Given the description of an element on the screen output the (x, y) to click on. 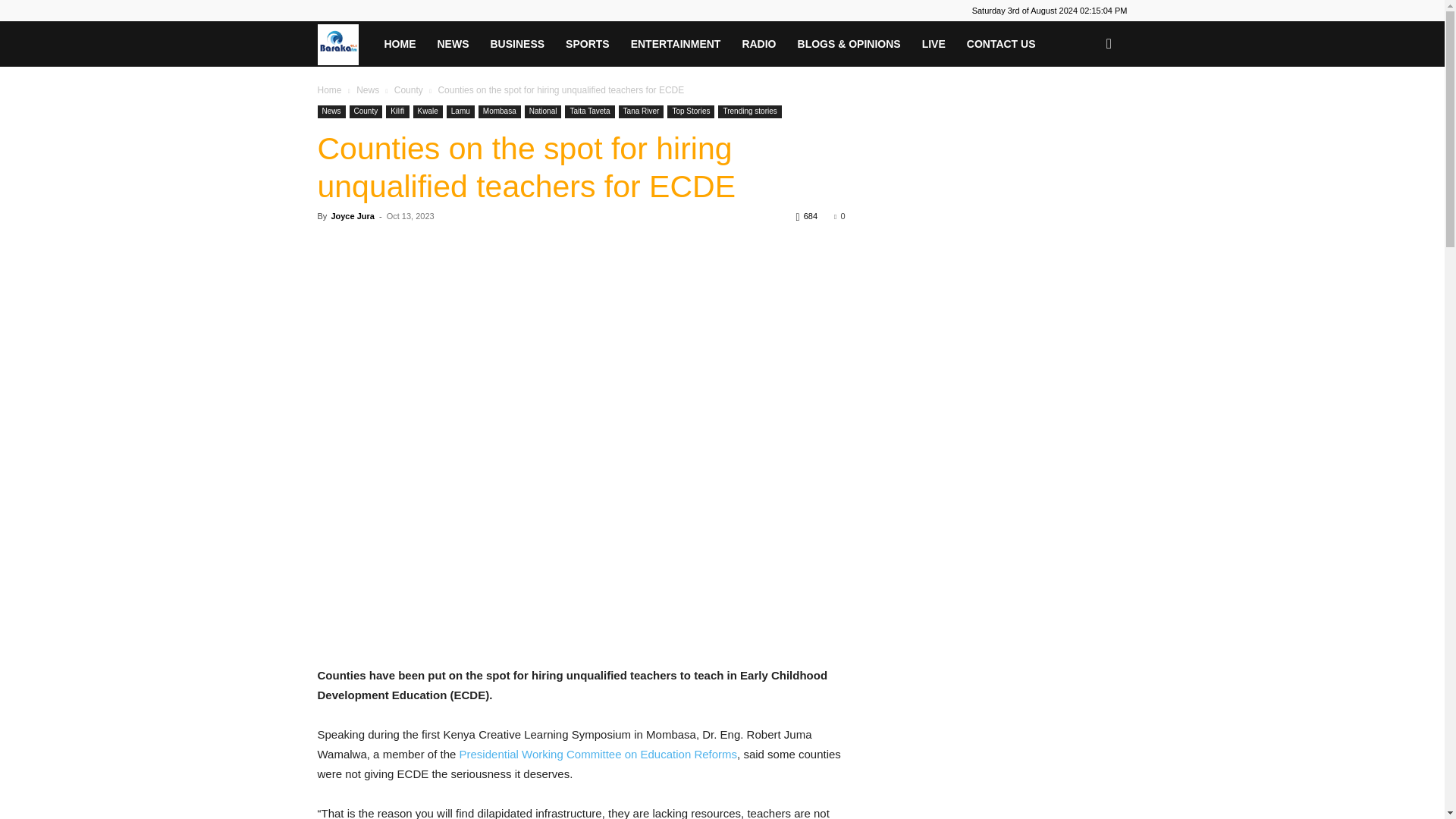
HOME (399, 43)
Baraka FM 95.5 (344, 43)
NEWS (452, 43)
